Given the description of an element on the screen output the (x, y) to click on. 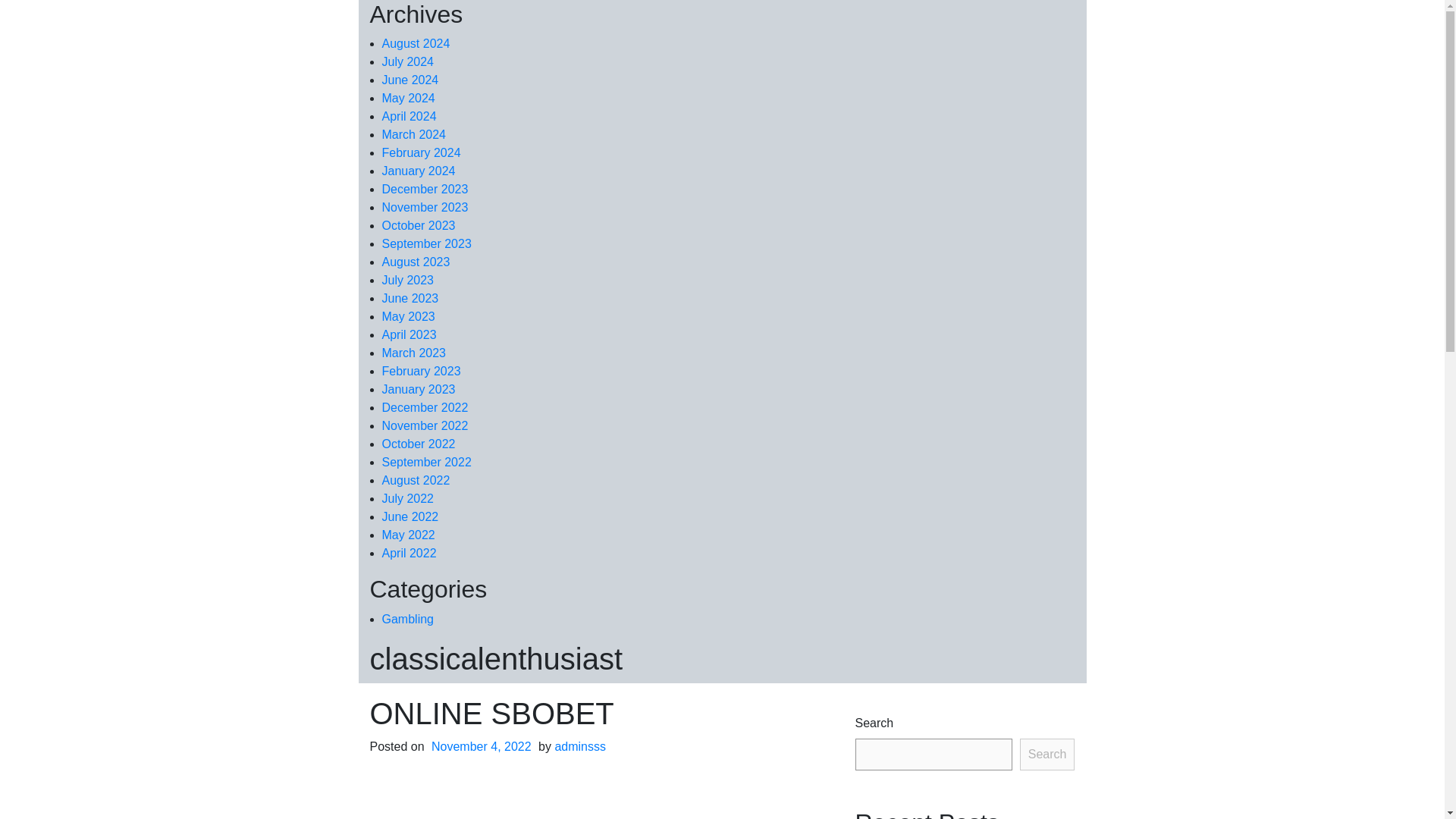
July 2024 (407, 61)
July 2022 (407, 498)
October 2022 (418, 443)
adminsss (579, 746)
October 2023 (418, 225)
September 2023 (426, 243)
June 2024 (410, 79)
August 2024 (415, 42)
May 2023 (408, 316)
March 2023 (413, 352)
